Given the description of an element on the screen output the (x, y) to click on. 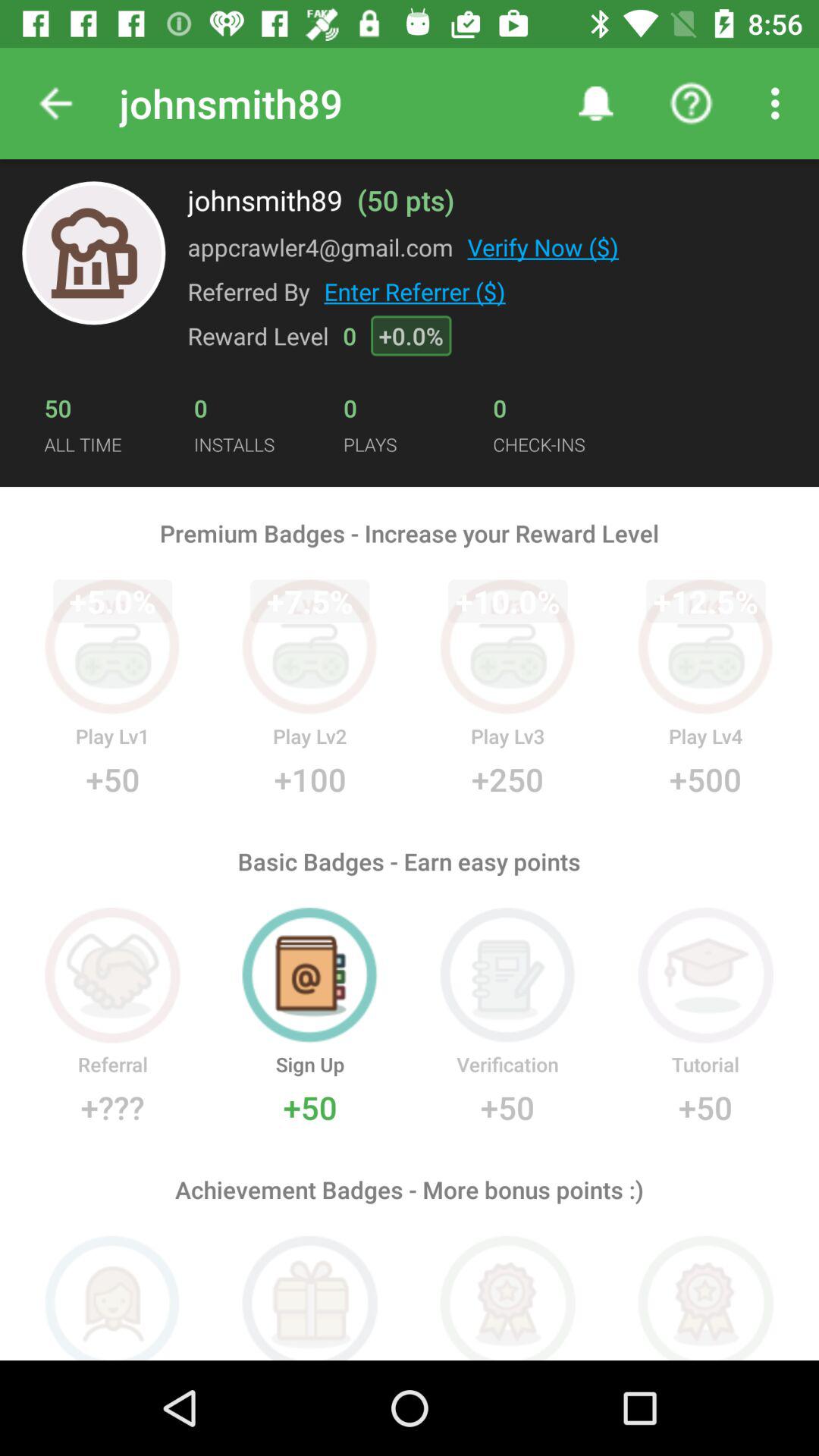
click on the symbol present to the left of appcrawler4gmailcom (93, 253)
click the notification symbol (595, 103)
go to the option which is right side to the bell option (691, 103)
